Given the description of an element on the screen output the (x, y) to click on. 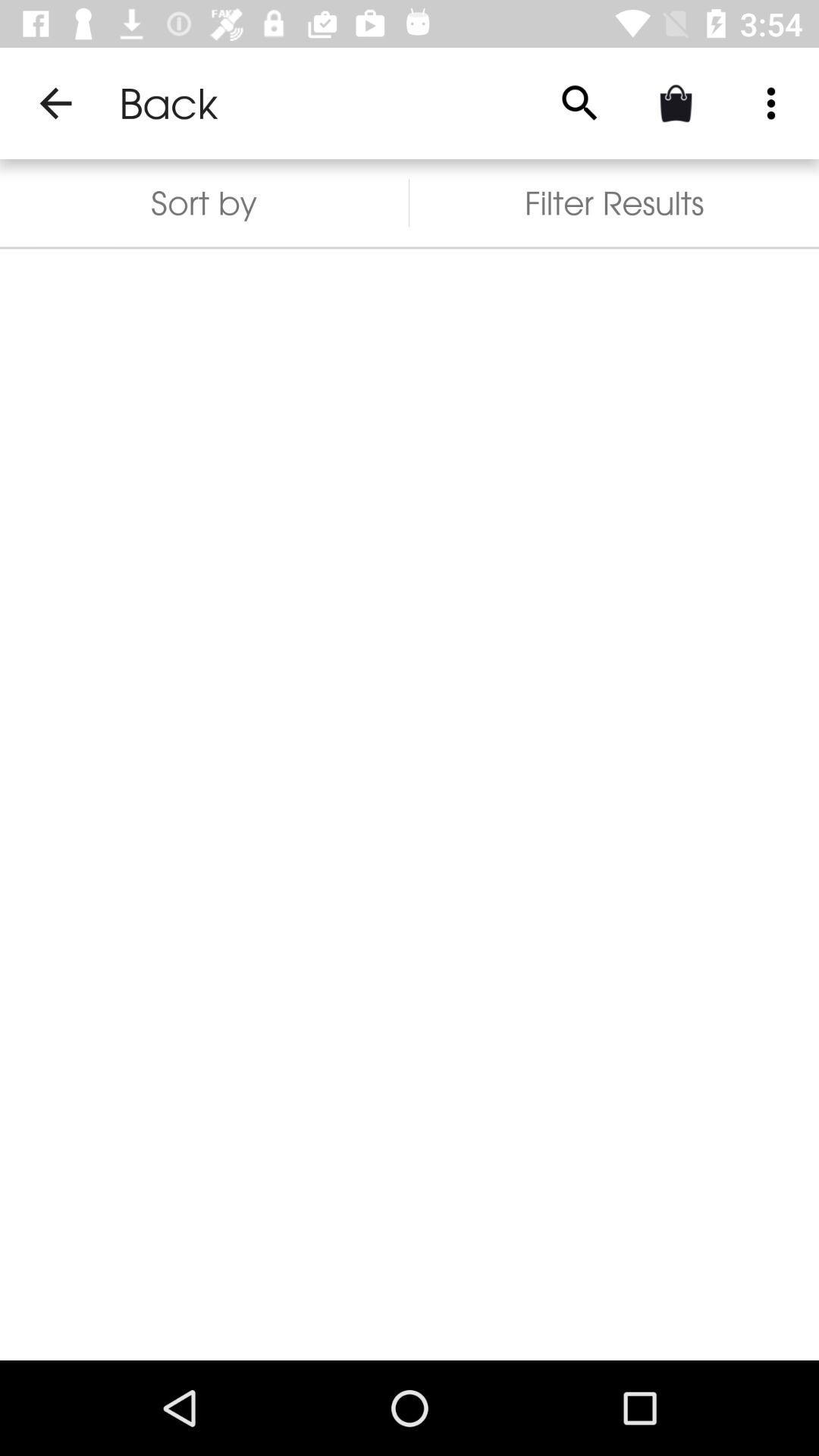
press sort by item (204, 202)
